Given the description of an element on the screen output the (x, y) to click on. 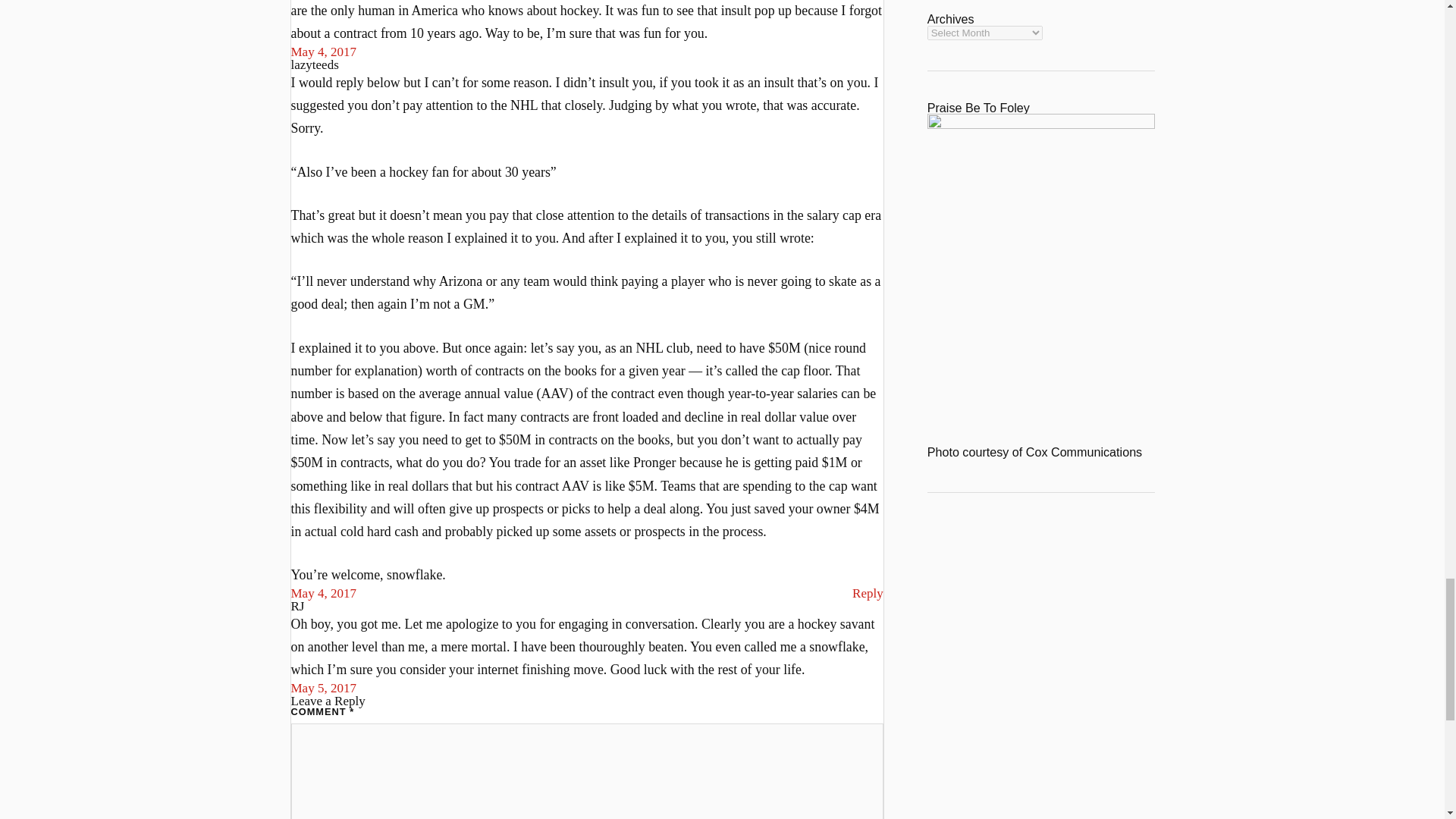
May 5, 2017 at 8:39 AM (323, 687)
May 4, 2017 at 8:21 PM (323, 593)
May 4, 2017 at 12:25 PM (323, 51)
